Given the description of an element on the screen output the (x, y) to click on. 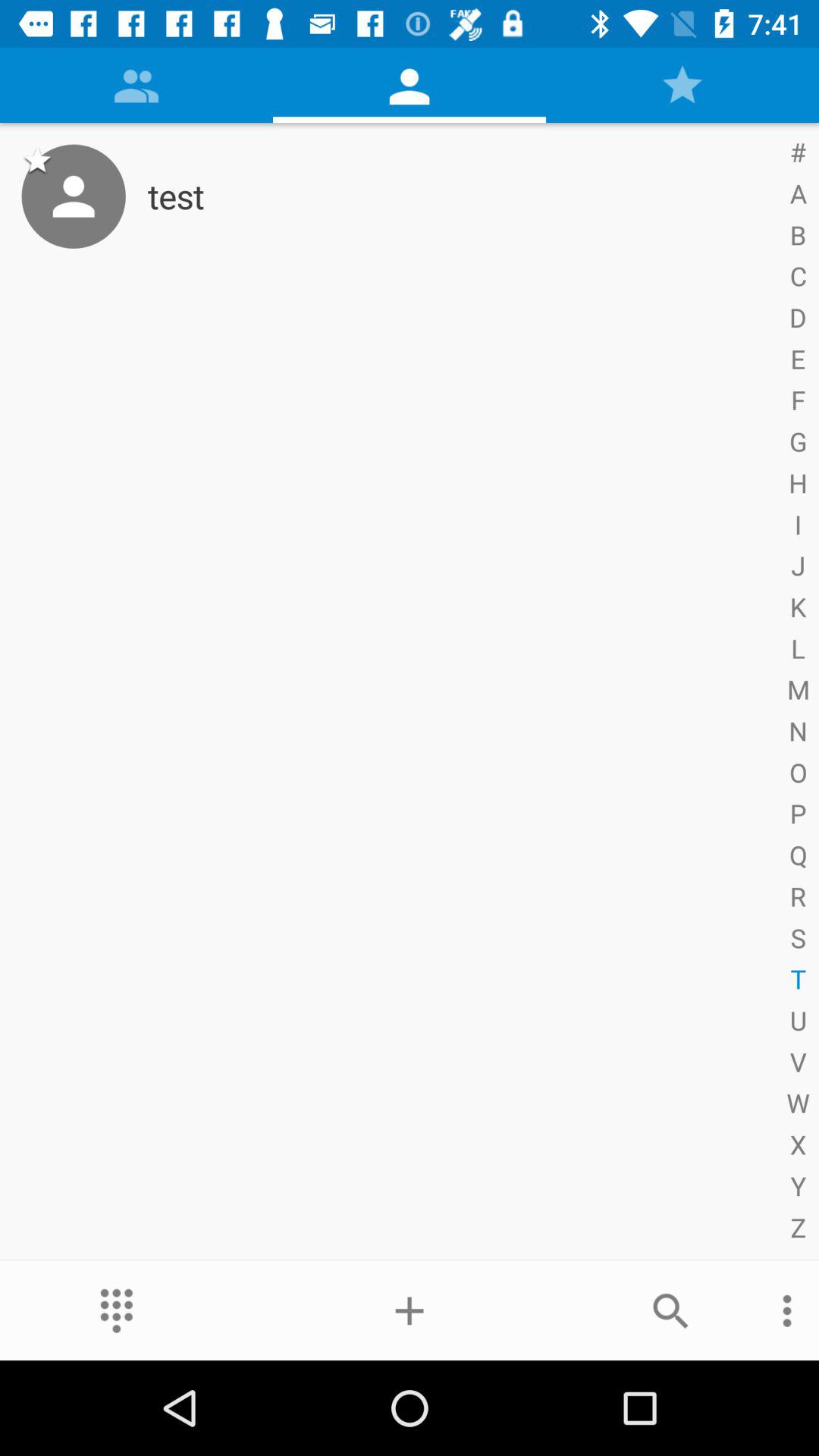
select the icon below test item (409, 1310)
